Given the description of an element on the screen output the (x, y) to click on. 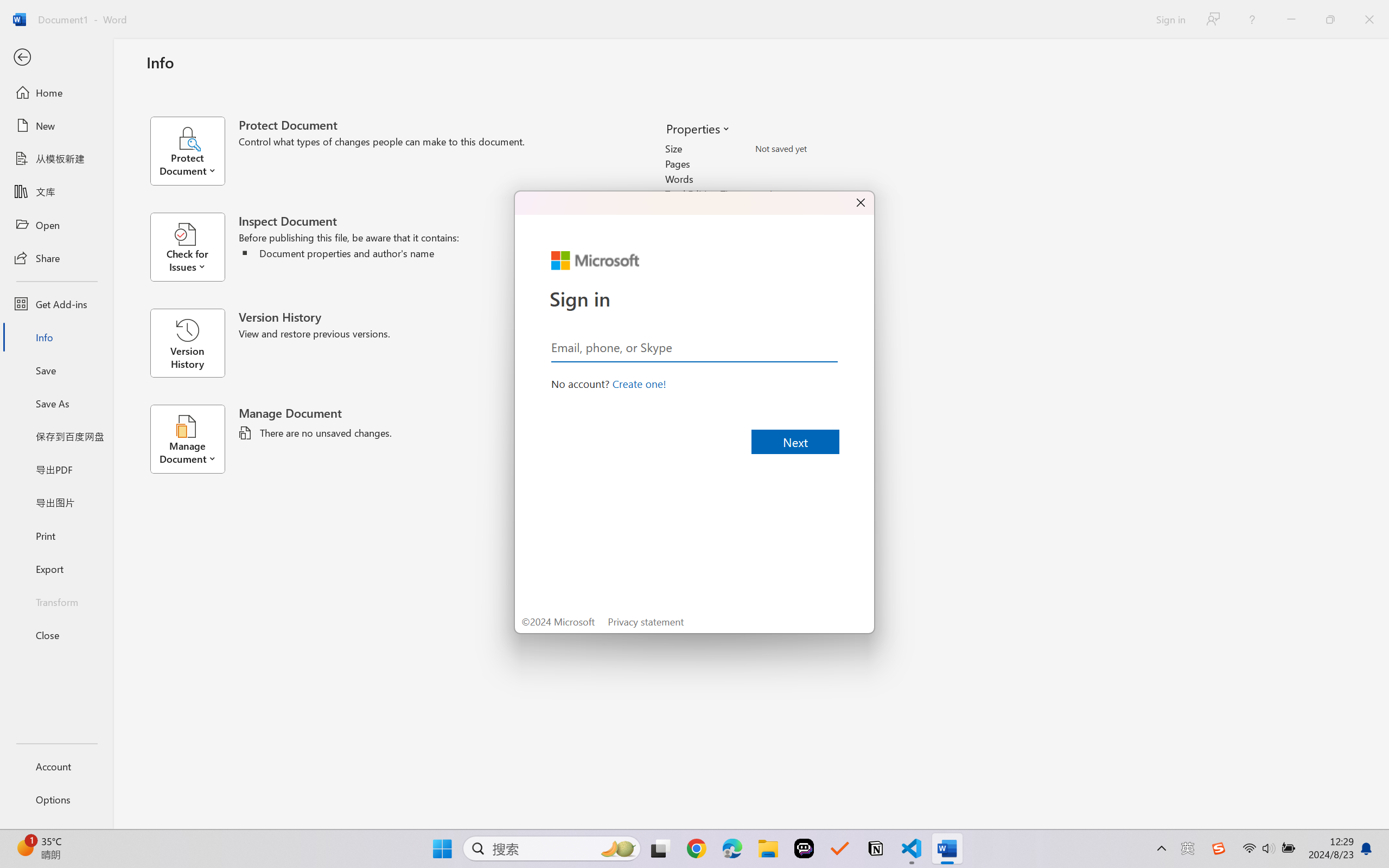
Back (56, 57)
Protect Document (194, 150)
Microsoft Edge (731, 848)
Save As (56, 403)
New (56, 125)
Size (818, 148)
Words (818, 178)
